Given the description of an element on the screen output the (x, y) to click on. 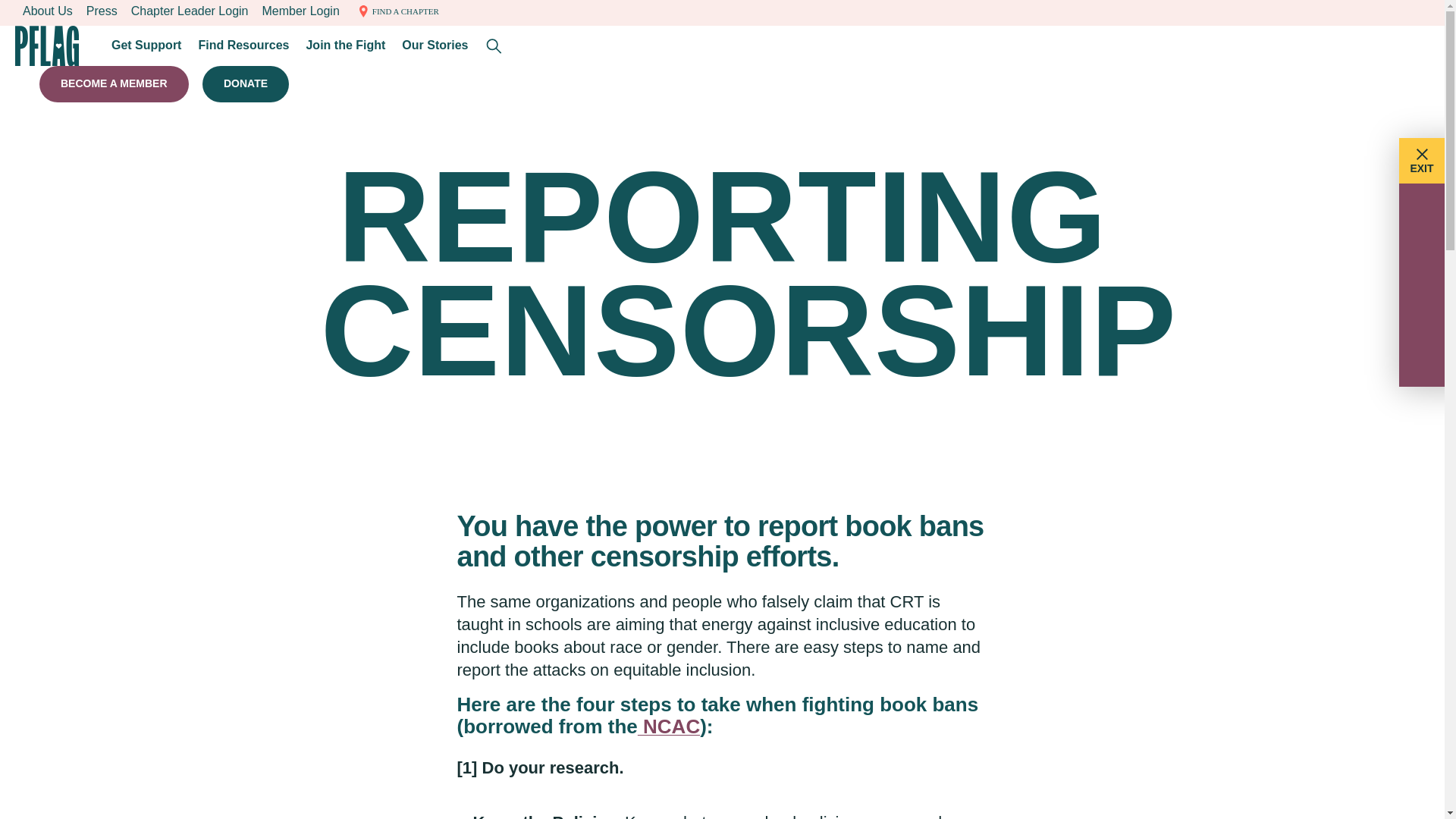
Search (494, 45)
PFLAG (47, 45)
Join the Fight (345, 45)
Our Stories (435, 45)
FIND A CHAPTER (396, 11)
EXIT (1425, 160)
Find Resources (243, 45)
About Us (47, 11)
BECOME A MEMBER (114, 84)
DONATE (245, 84)
